Given the description of an element on the screen output the (x, y) to click on. 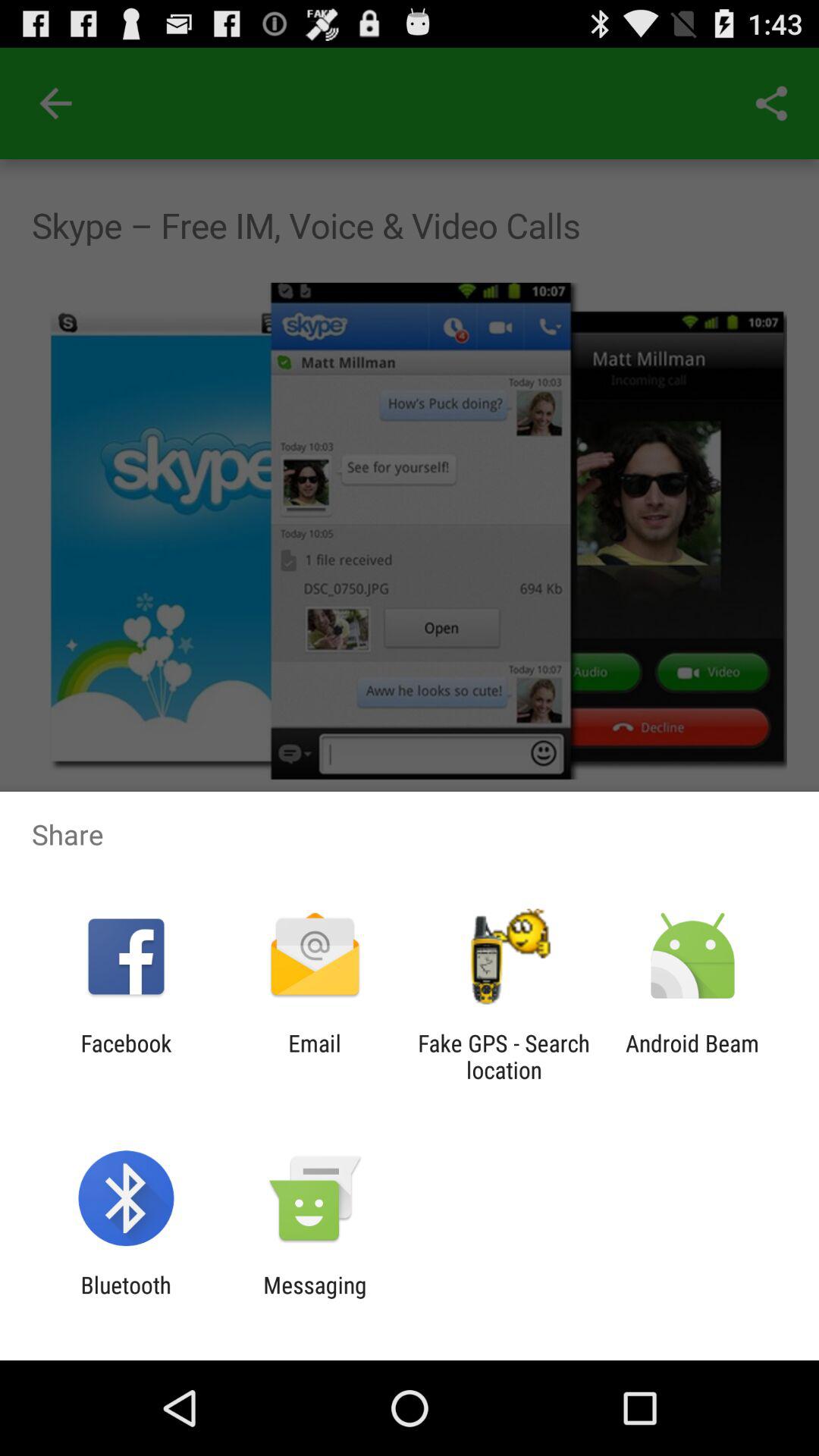
launch the item to the right of email icon (503, 1056)
